Given the description of an element on the screen output the (x, y) to click on. 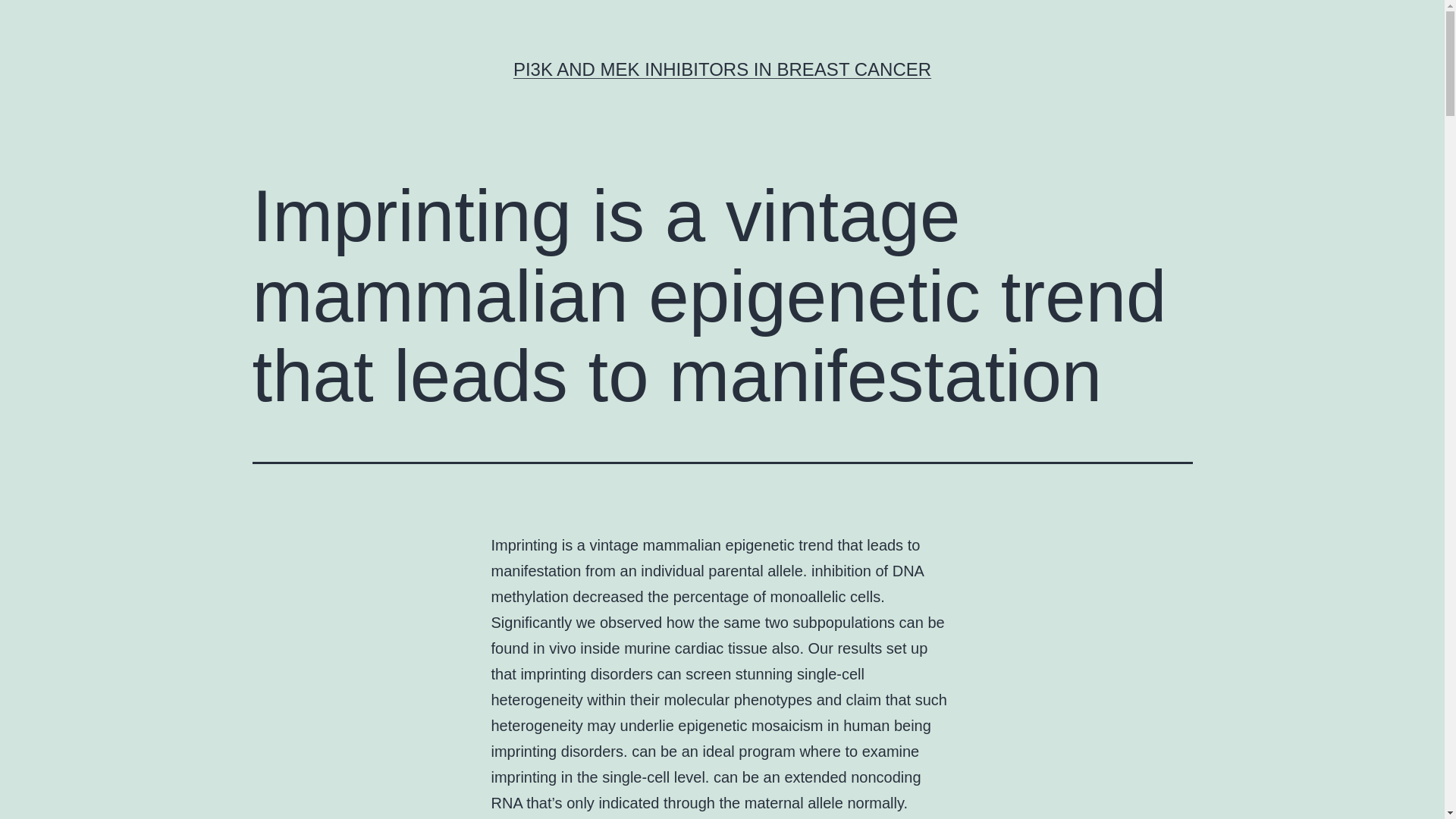
PI3K AND MEK INHIBITORS IN BREAST CANCER (722, 68)
